Given the description of an element on the screen output the (x, y) to click on. 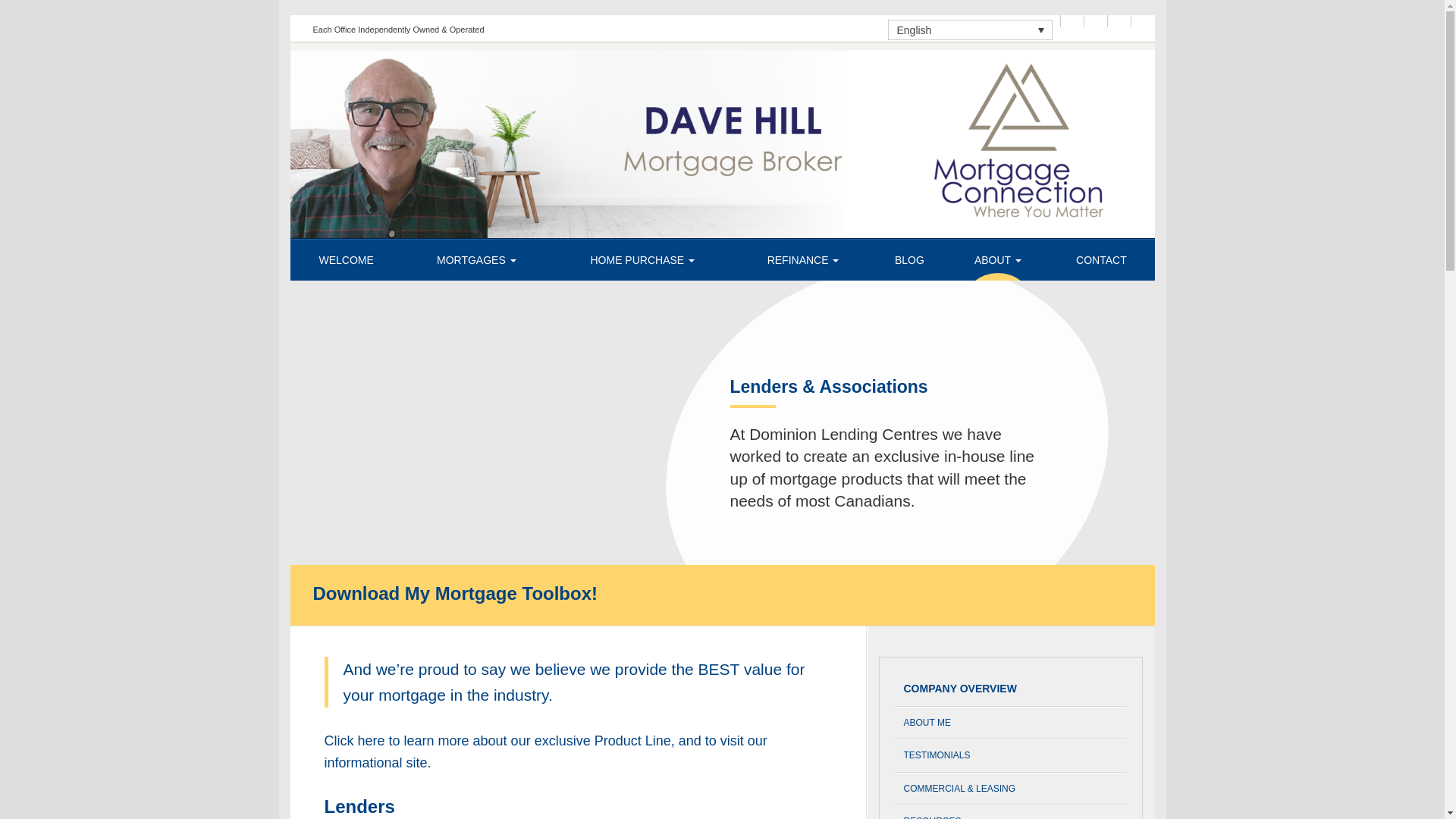
English (970, 29)
MORTGAGES (476, 259)
BLOG (908, 259)
HOME PURCHASE (642, 259)
REFINANCE (803, 259)
ABOUT (997, 259)
WELCOME (345, 259)
